Given the description of an element on the screen output the (x, y) to click on. 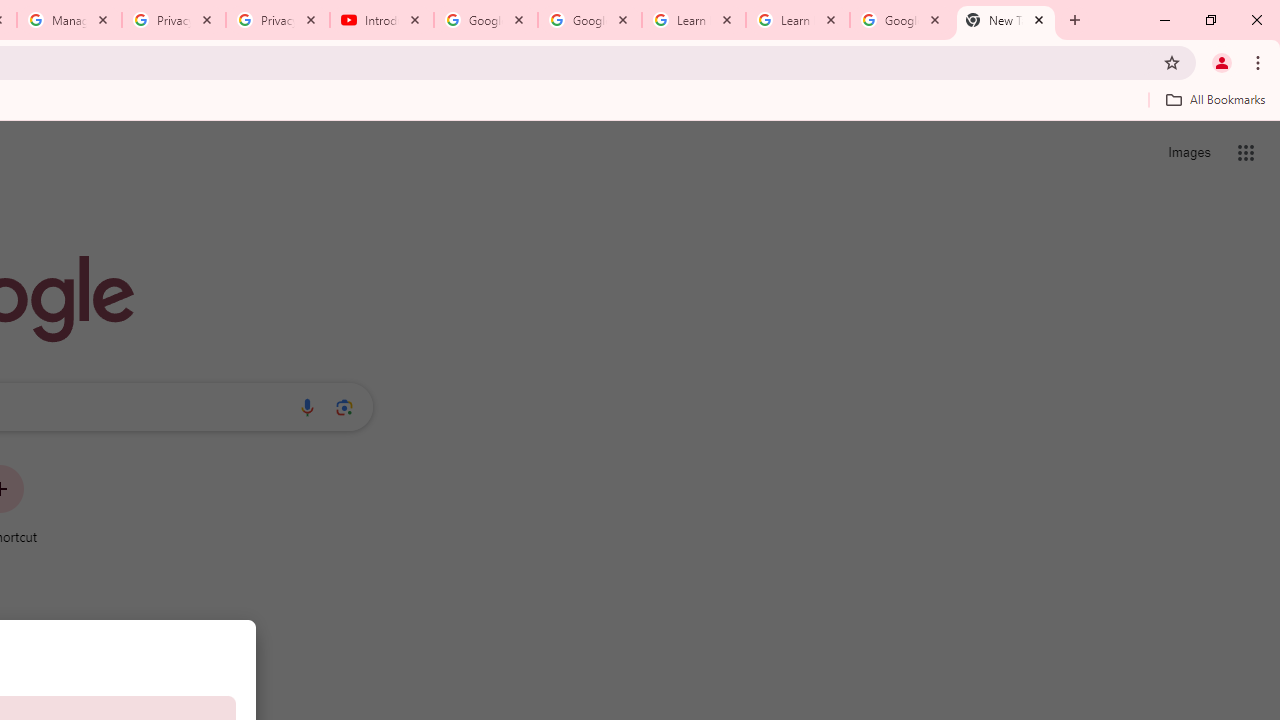
Google Account (901, 20)
Introduction | Google Privacy Policy - YouTube (381, 20)
